Given the description of an element on the screen output the (x, y) to click on. 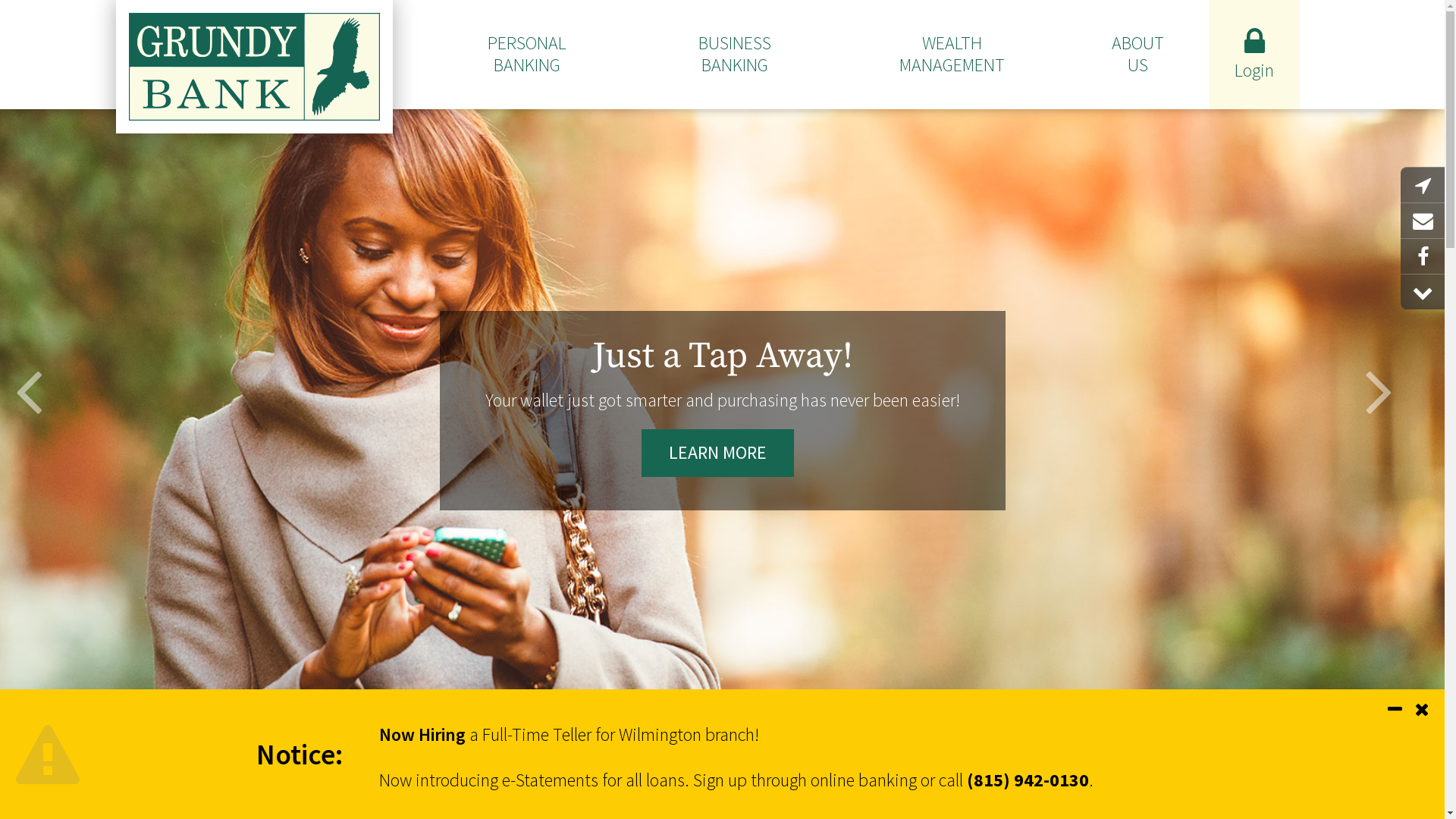
WEALTH MANAGEMENT Element type: text (951, 54)
Facebook Element type: text (1422, 256)
Pause Slideshow Element type: text (721, 746)
3
Just a Tap Away! Element type: text (749, 787)
Locations Element type: text (1422, 185)
Next section Element type: text (1422, 292)
(815) 942-0130 Element type: text (1027, 779)
Login Element type: text (1253, 54)
LEARN MORE Element type: text (717, 452)
1
Bank Anytime, Anywhere. Element type: text (694, 787)
Email Us Element type: text (1422, 220)
2
Looking for Lending Options? Element type: text (721, 787)
